Given the description of an element on the screen output the (x, y) to click on. 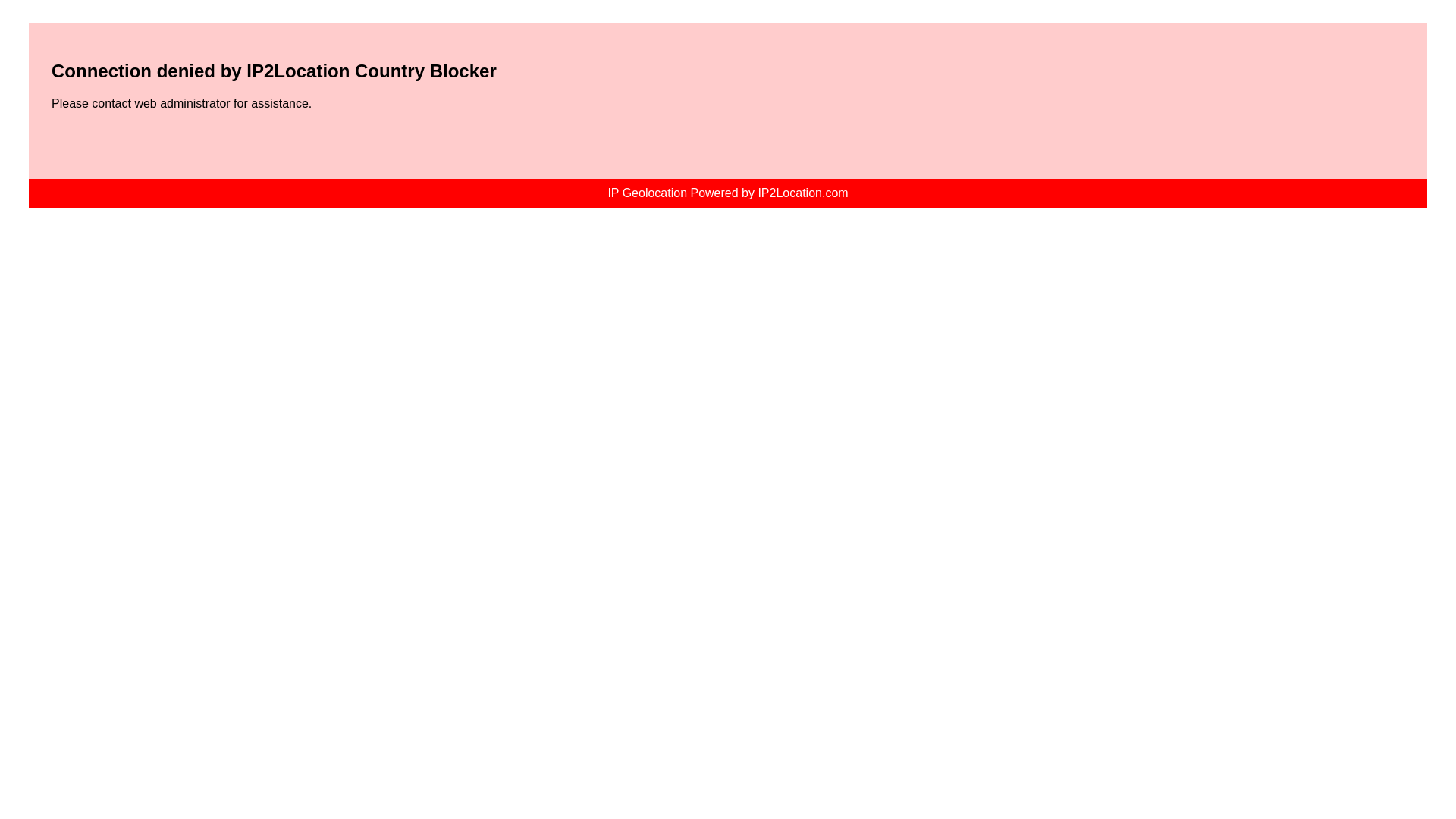
IP Geolocation Powered by IP2Location.com Element type: text (727, 192)
